Given the description of an element on the screen output the (x, y) to click on. 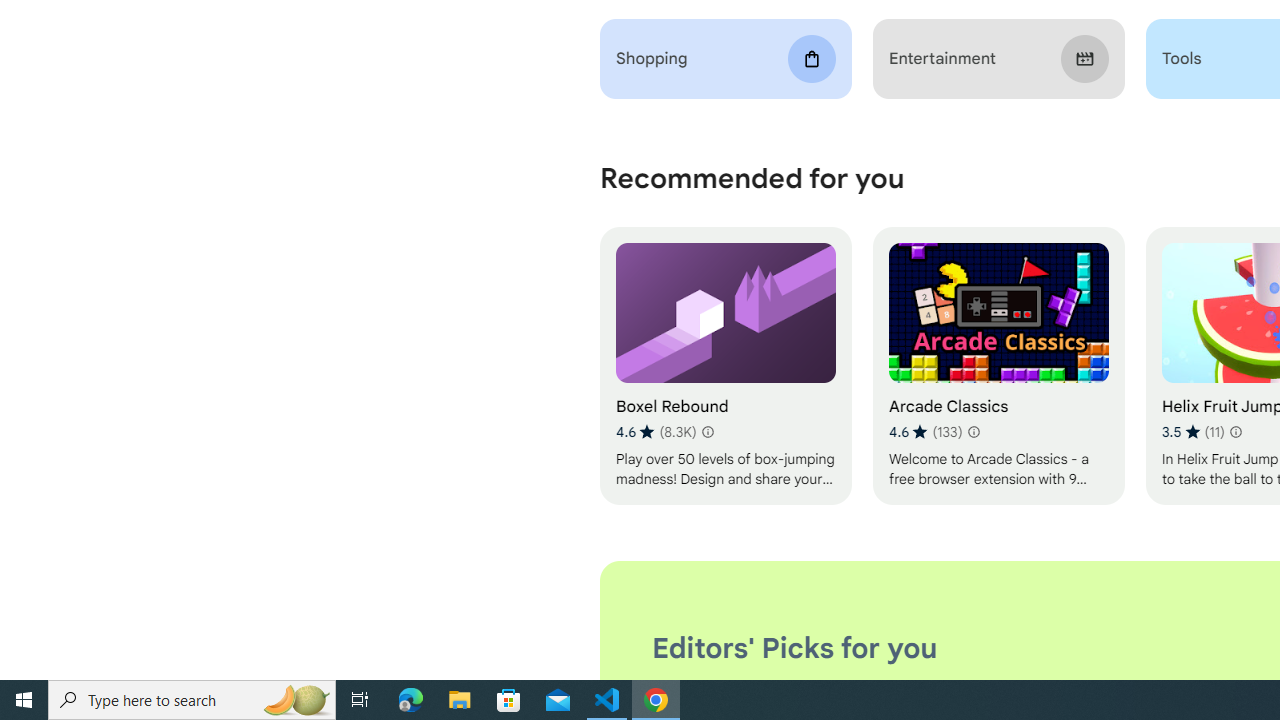
Shopping (725, 59)
Arcade Classics (998, 366)
Learn more about results and reviews "Arcade Classics" (972, 431)
Average rating 3.5 out of 5 stars. 11 ratings. (1192, 431)
Learn more about results and reviews "Boxel Rebound" (707, 431)
Entertainment (998, 59)
Boxel Rebound (725, 366)
Average rating 4.6 out of 5 stars. 133 ratings. (925, 431)
Average rating 4.6 out of 5 stars. 8.3K ratings. (655, 431)
